Given the description of an element on the screen output the (x, y) to click on. 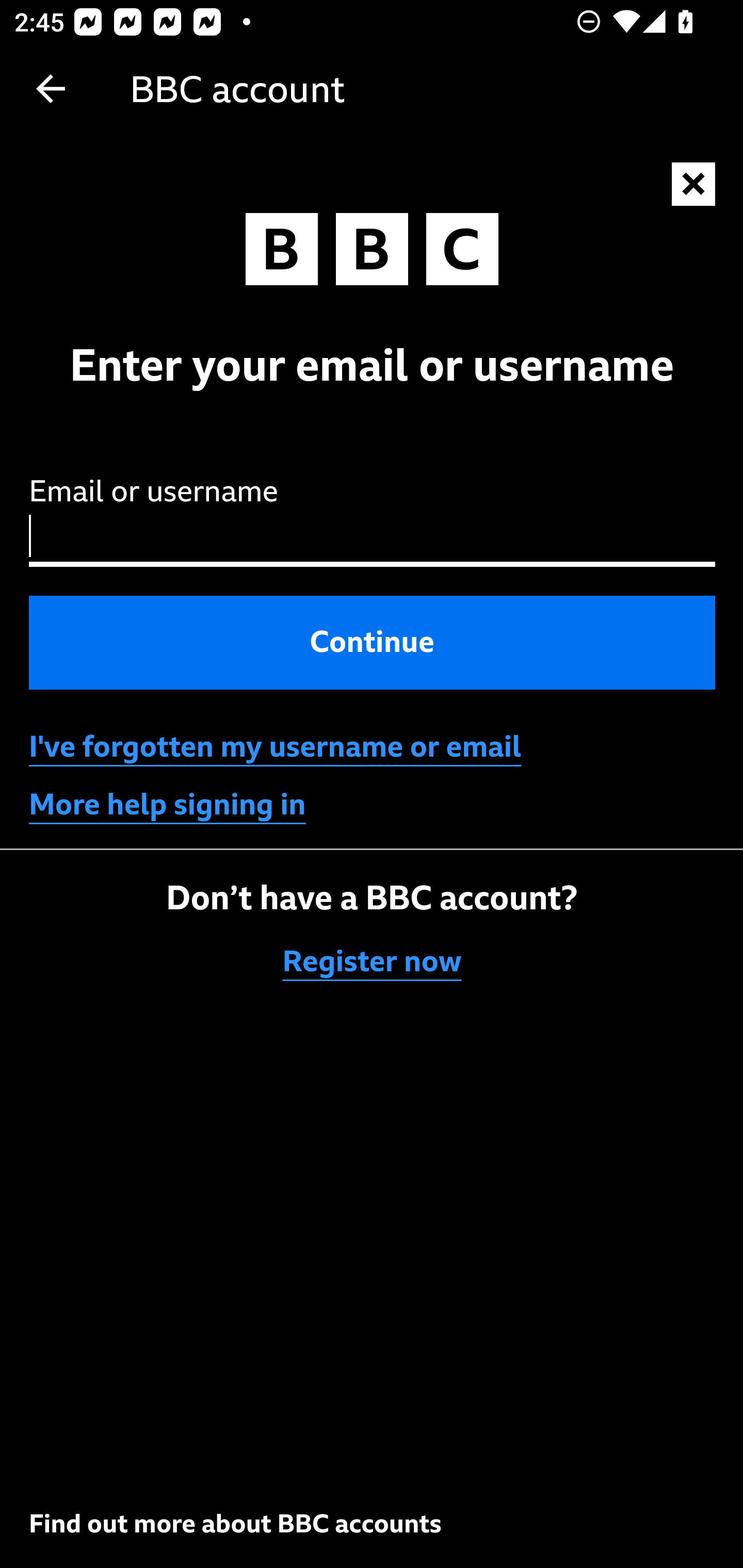
Close and return to where you originally came from (694, 184)
Go to the BBC Homepage (371, 253)
Continue (372, 641)
I've forgotten my username or email (274, 747)
More help signing in (167, 805)
Register now (372, 960)
Find out more about BBC accounts (235, 1522)
